Given the description of an element on the screen output the (x, y) to click on. 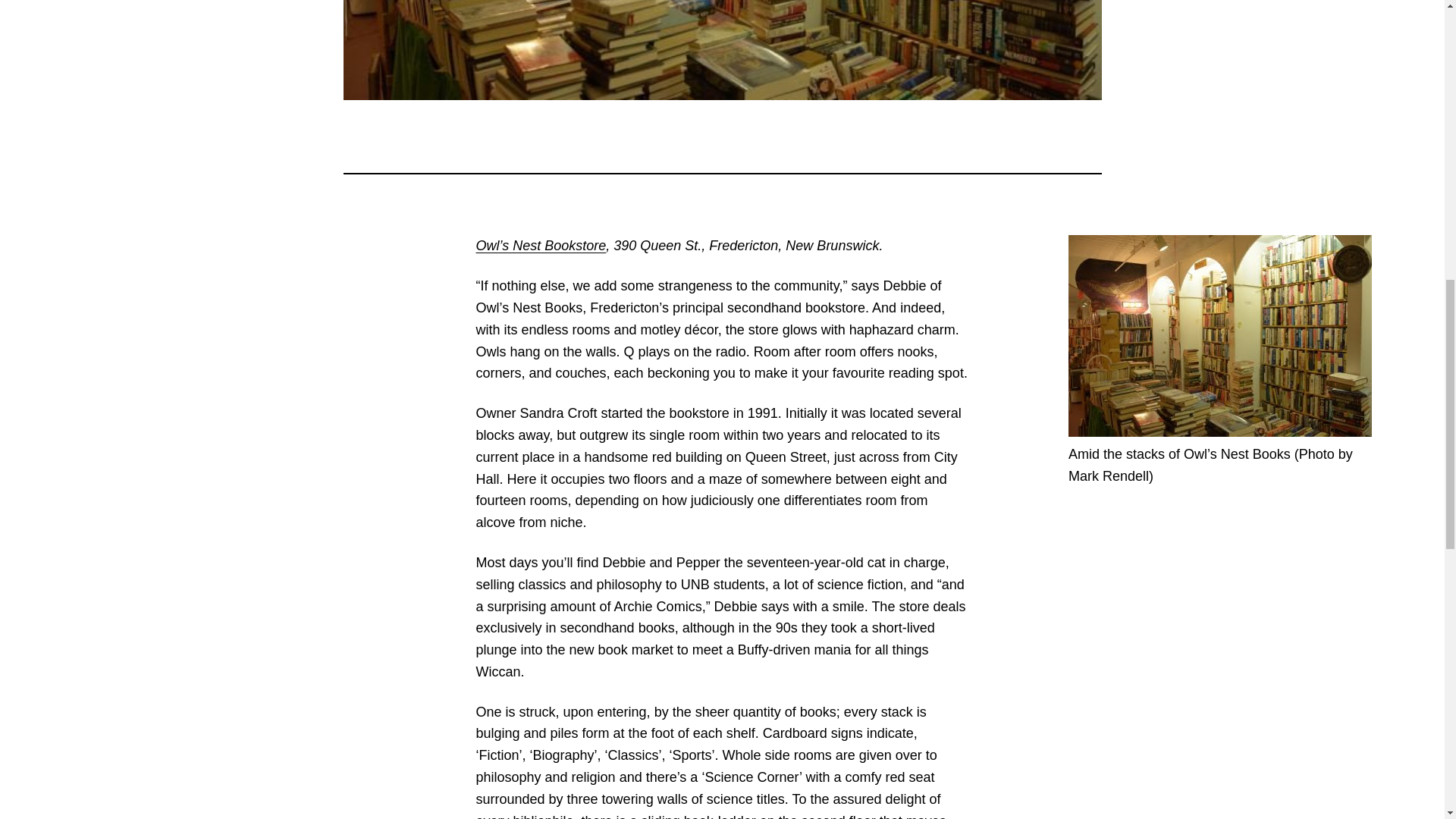
Owl's Nest Bookstore (541, 245)
